Given the description of an element on the screen output the (x, y) to click on. 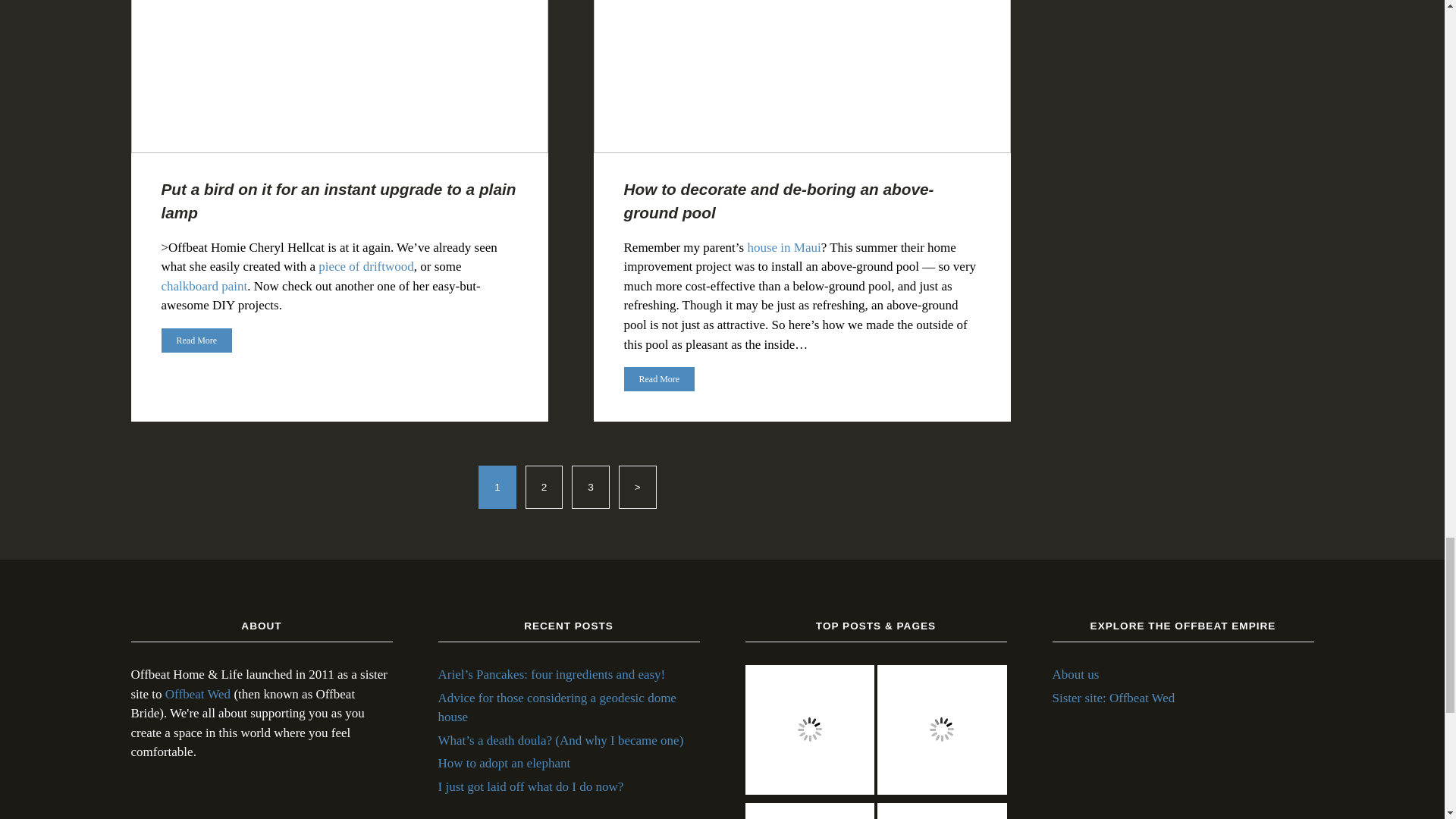
Family nudity: my sons see me nude at home (809, 811)
How to decorate and de-boring an above-ground pool (809, 732)
DIYing a vertical pumpkin patch in our tiny urban backyard (942, 732)
7 ways smoking weed can make you a better parent (942, 811)
